Given the description of an element on the screen output the (x, y) to click on. 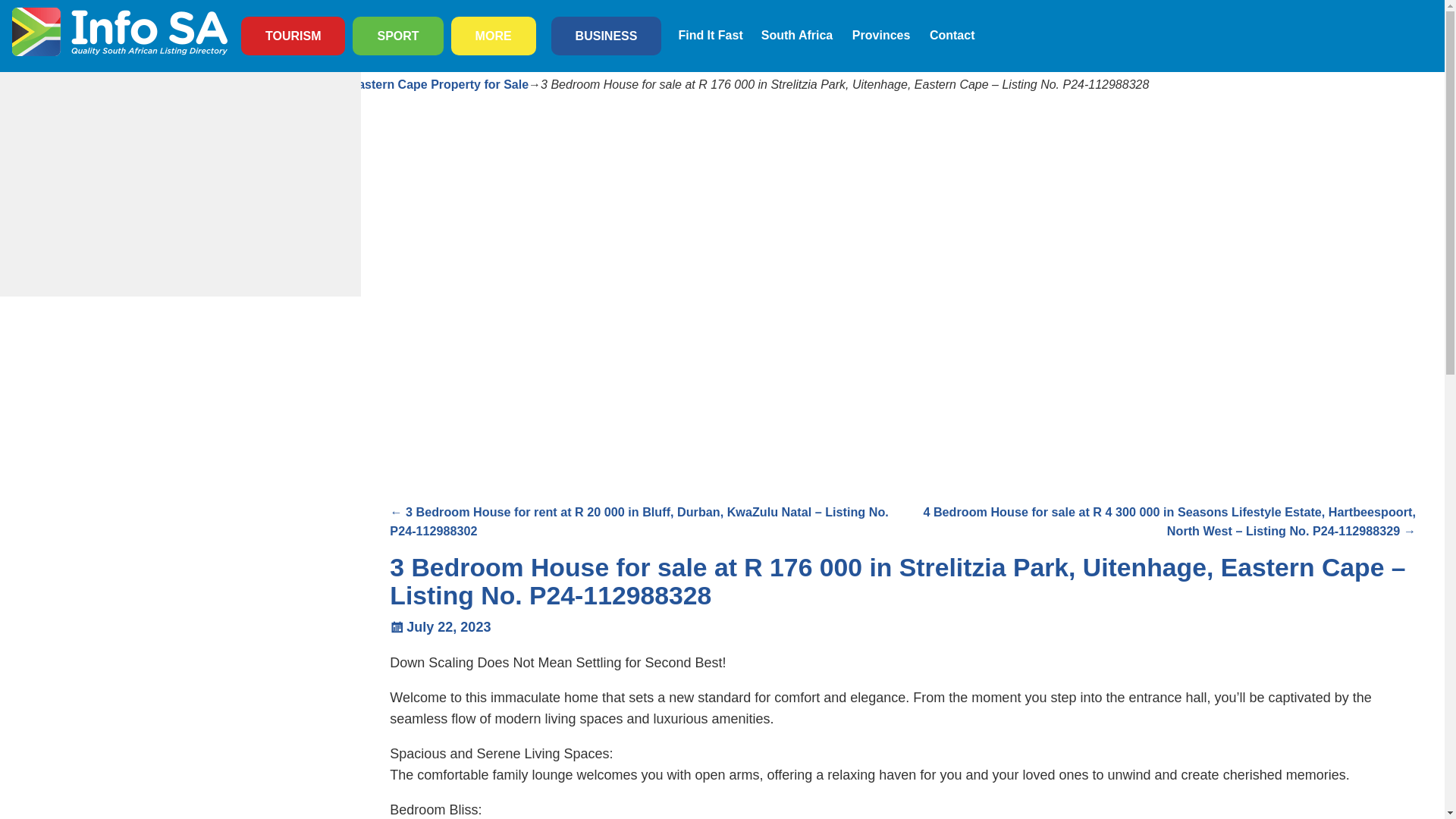
9:31 pm (440, 626)
TOURISM (293, 35)
Contact (952, 35)
Provinces (881, 35)
Advertisement (471, 394)
SPORT (398, 35)
Find It Fast (709, 35)
Advertisement (181, 183)
BUSINESS (606, 35)
MORE (493, 35)
